Given the description of an element on the screen output the (x, y) to click on. 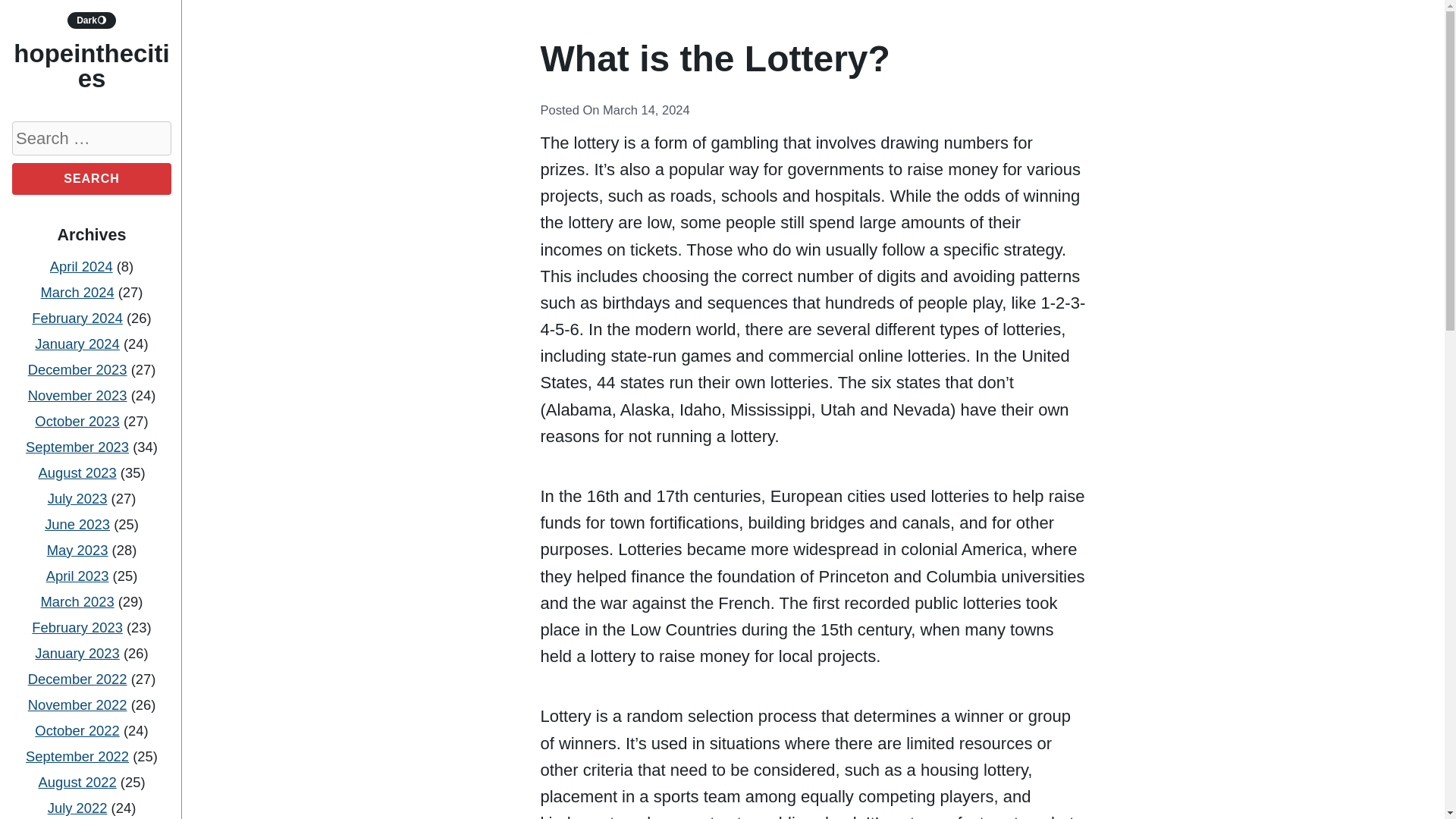
July 2022 (77, 807)
January 2023 (76, 652)
September 2022 (77, 756)
November 2022 (77, 704)
December 2023 (77, 369)
August 2022 (76, 781)
May 2023 (76, 549)
April 2023 (77, 575)
March 2024 (77, 292)
January 2024 (76, 343)
